Given the description of an element on the screen output the (x, y) to click on. 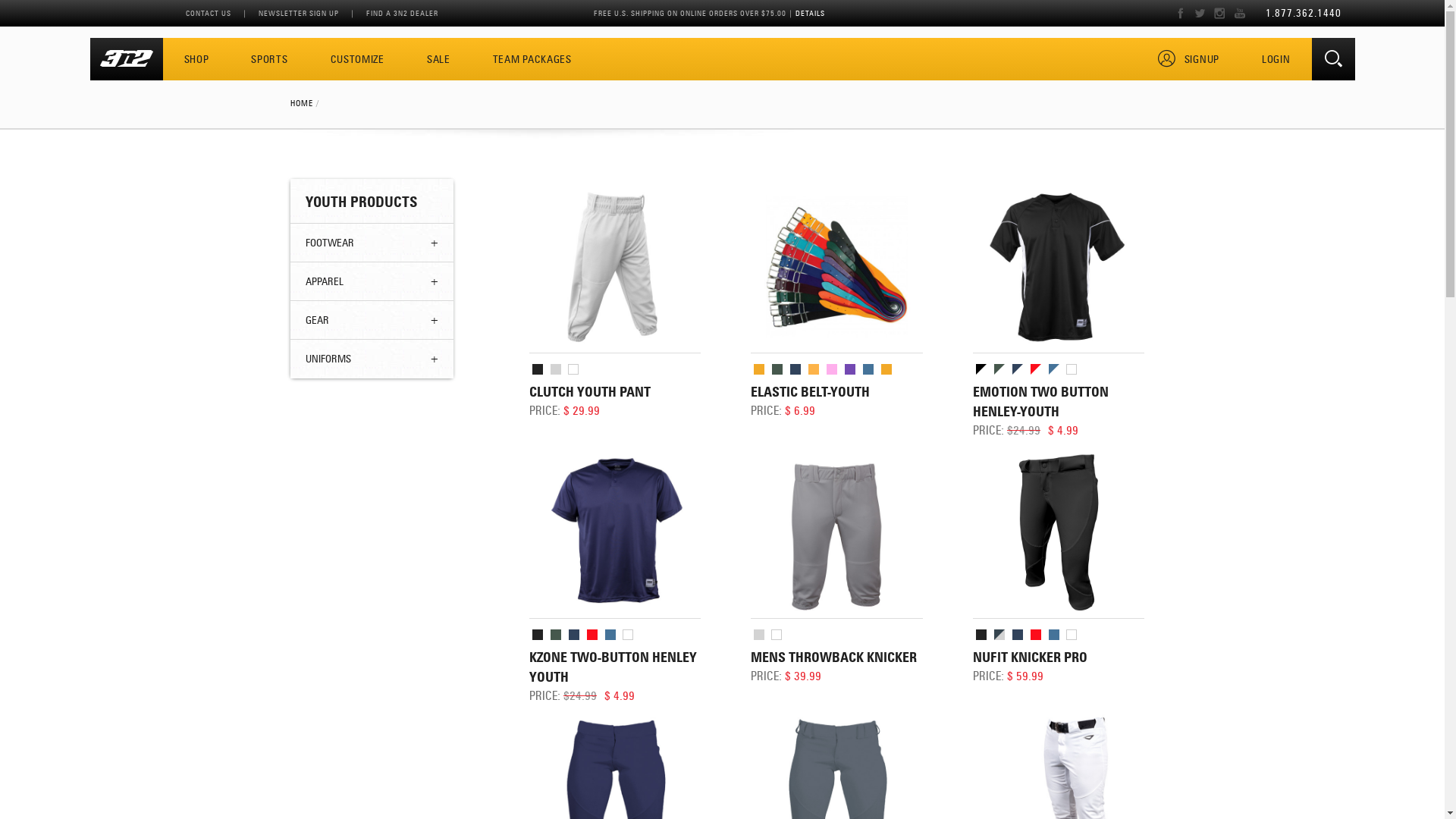
Red Element type: hover (1035, 634)
HOME Element type: text (300, 102)
NUFIT KNICKER PRO
PRICE: $ 59.99 Element type: text (1054, 576)
Black/White Element type: hover (980, 369)
Facebook Element type: hover (1183, 13)
Royal Blue Element type: hover (610, 634)
Athletic Gold Element type: hover (758, 369)
White Element type: hover (1071, 634)
Red Element type: hover (591, 634)
Royal Blue Element type: hover (867, 369)
CLUTCH YOUTH PANT
PRICE: $ 29.99 Element type: text (610, 311)
Orange Element type: hover (813, 369)
CONTACT US Element type: text (207, 13)
White Element type: hover (627, 634)
Black Element type: hover (980, 634)
Royal Blue/White Element type: hover (1053, 369)
Grey Element type: hover (758, 634)
Charcoal Grey Element type: hover (999, 634)
SALE Element type: text (438, 59)
Navy Blue Element type: hover (795, 369)
Twitter Element type: hover (1203, 13)
SIGNUP Element type: text (1188, 59)
Navy/White Element type: hover (1017, 369)
CUSTOMIZE Element type: text (357, 59)
TEAM PACKAGES Element type: text (531, 59)
White/White Element type: hover (1071, 368)
Dark Green Element type: hover (776, 369)
LOGIN Element type: text (1275, 59)
Grey Element type: hover (555, 369)
NEWSLETTER SIGN UP Element type: text (297, 13)
White Element type: hover (776, 634)
Pink Element type: hover (831, 369)
MENS THROWBACK KNICKER
PRICE: $ 39.99 Element type: text (832, 576)
ELASTIC BELT-YOUTH
PRICE: $ 6.99 Element type: text (832, 311)
Forest Green/White Element type: hover (999, 369)
Navy Blue Element type: hover (1017, 634)
Navy Blue Element type: hover (573, 634)
Black Element type: hover (537, 369)
FIND A 3N2 DEALER Element type: text (401, 13)
YouTube Element type: hover (1248, 13)
Vegas Gold Element type: hover (886, 369)
Black Element type: hover (537, 634)
Red/White Element type: hover (1035, 369)
DETAILS Element type: text (809, 13)
EMOTION TWO BUTTON HENLEY-YOUTH
PRICE: $24.99$ 4.99 Element type: text (1054, 311)
Purple Element type: hover (849, 369)
Royal Blue Element type: hover (1053, 634)
KZONE TWO-BUTTON HENLEY YOUTH
PRICE: $24.99$ 4.99 Element type: text (610, 576)
Instagram Element type: hover (1223, 13)
Forest Green Element type: hover (555, 634)
White Element type: hover (572, 368)
